Given the description of an element on the screen output the (x, y) to click on. 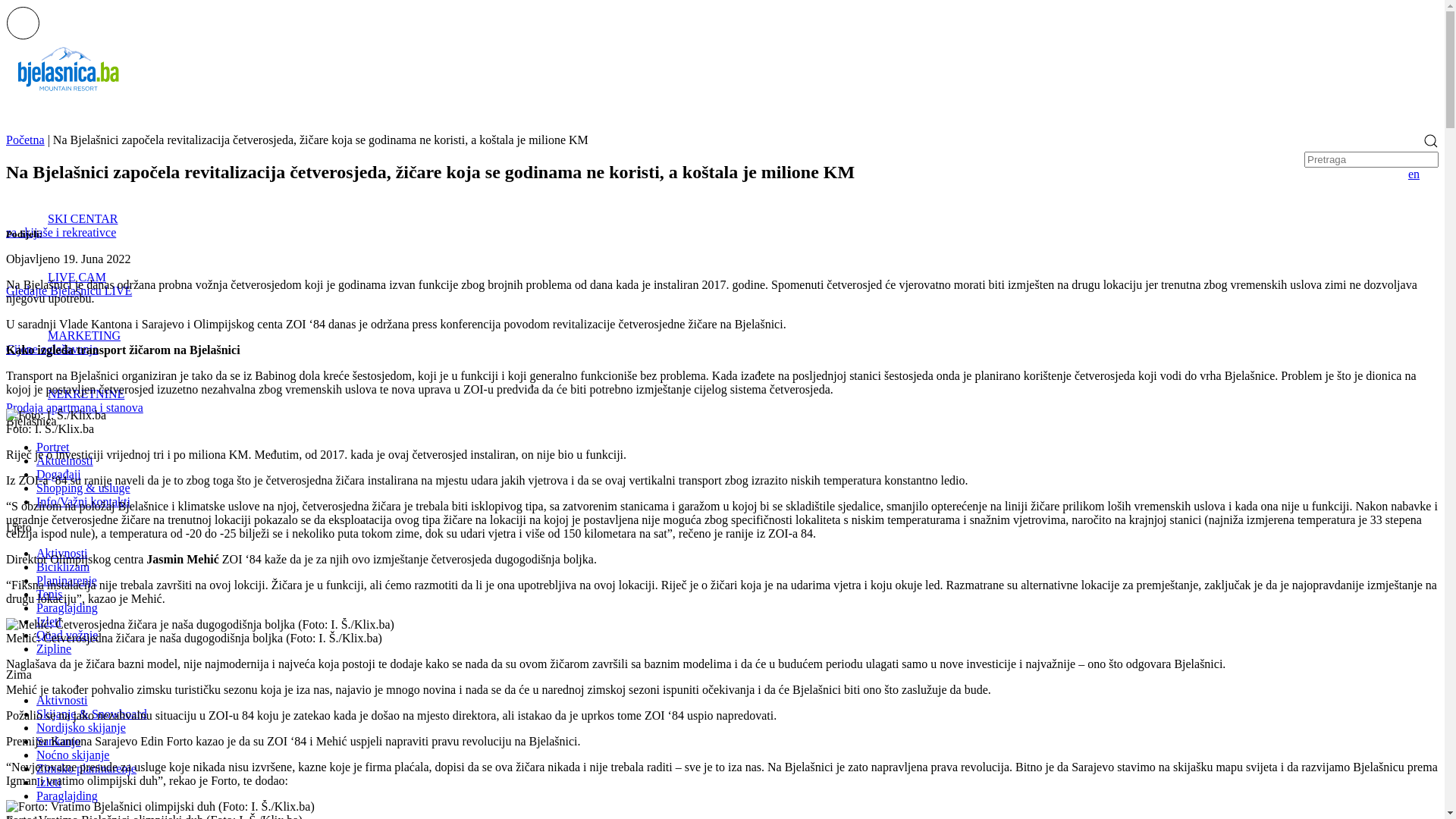
Zimsko planinarenje Element type: text (86, 768)
NEKRETNINE
Prodaja apartmana i stanova Element type: text (722, 385)
Portret Element type: text (52, 446)
Izleti Element type: text (48, 621)
Tenis Element type: text (49, 593)
Planinarenje Element type: text (66, 580)
Paraglajding Element type: text (66, 795)
Paraglajding Element type: text (66, 607)
Aktuelnosti Element type: text (64, 460)
Nordijsko skijanje Element type: text (80, 727)
en Element type: text (1413, 173)
Aktivnosti Element type: text (61, 699)
Biciklizam Element type: text (62, 566)
Sankanje Element type: text (58, 740)
Shopping & usluge Element type: text (83, 487)
Izleti Element type: text (48, 781)
Skijanje & Snowboard Element type: text (91, 713)
Aktivnosti Element type: text (61, 552)
Zipline Element type: text (53, 648)
